Given the description of an element on the screen output the (x, y) to click on. 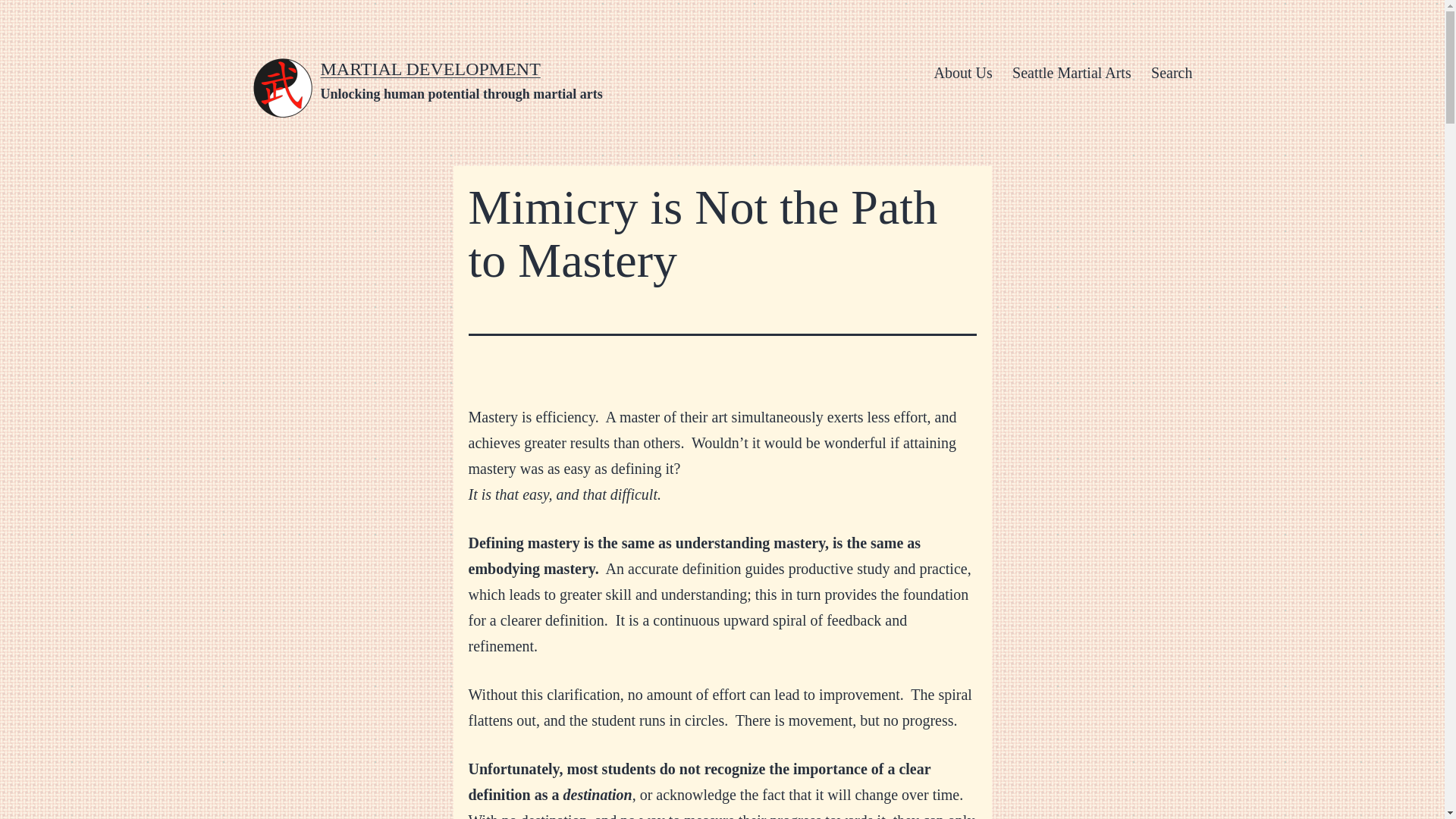
About Us (963, 72)
MARTIAL DEVELOPMENT (430, 68)
Search (1171, 72)
Seattle Martial Arts (1072, 72)
